Given the description of an element on the screen output the (x, y) to click on. 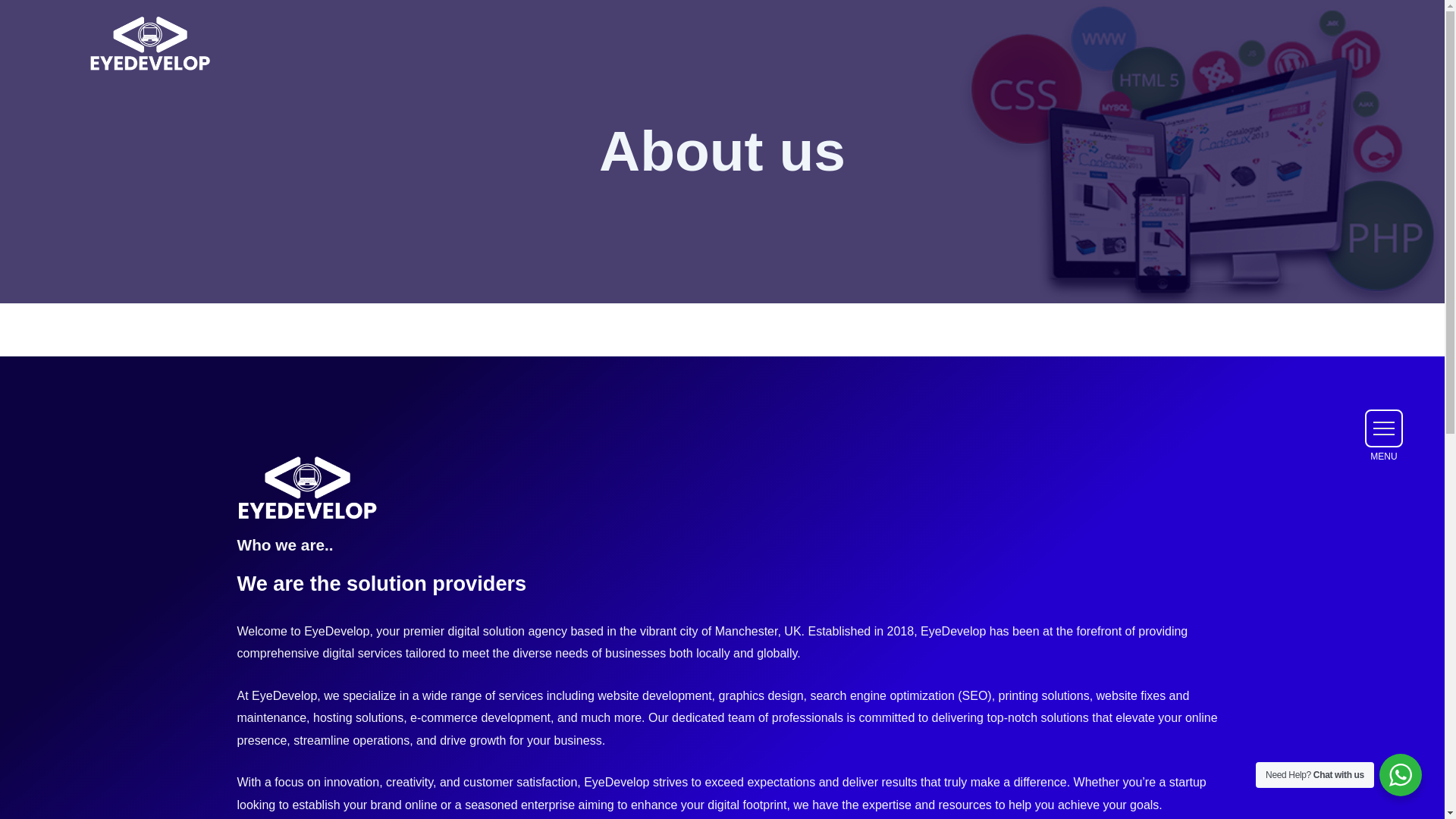
Need Help? Chat with us (1400, 774)
